Given the description of an element on the screen output the (x, y) to click on. 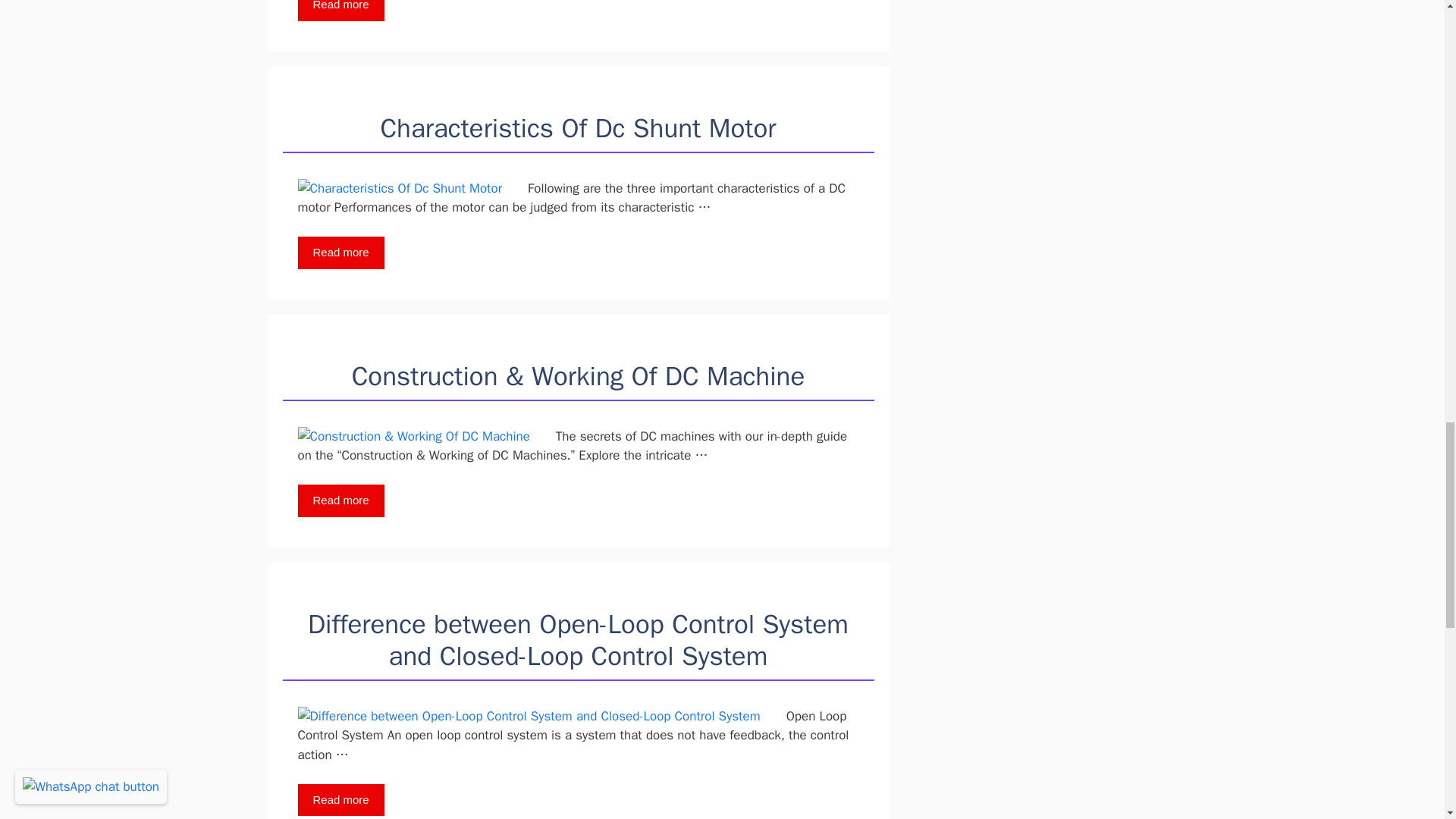
Read more (340, 252)
Characteristics Of Dc Series Motor (340, 10)
Characteristics Of Dc Shunt Motor (578, 127)
Read more (340, 10)
Characteristics Of Dc Shunt Motor (340, 252)
